Given the description of an element on the screen output the (x, y) to click on. 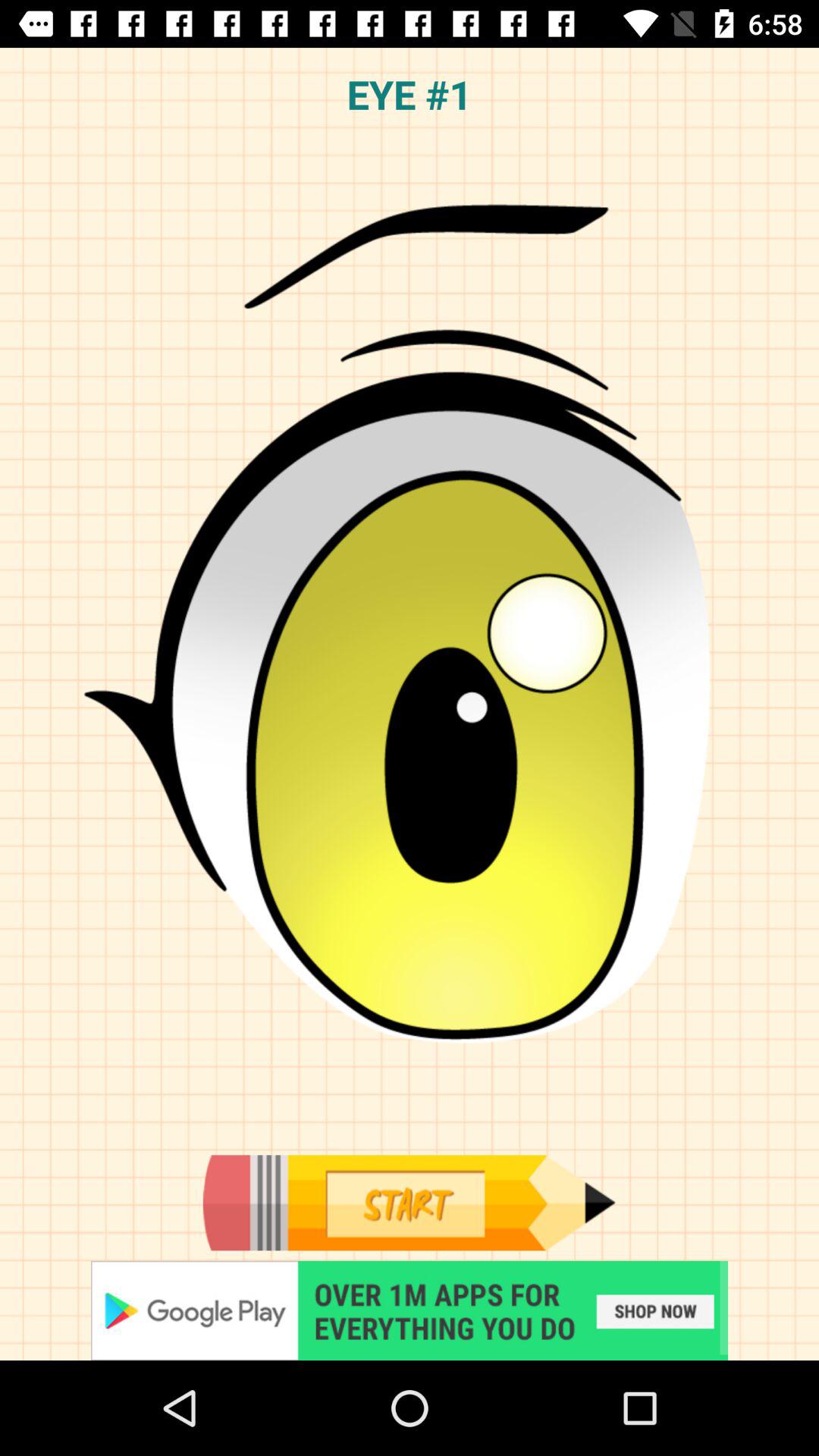
view advertisement (409, 1310)
